Given the description of an element on the screen output the (x, y) to click on. 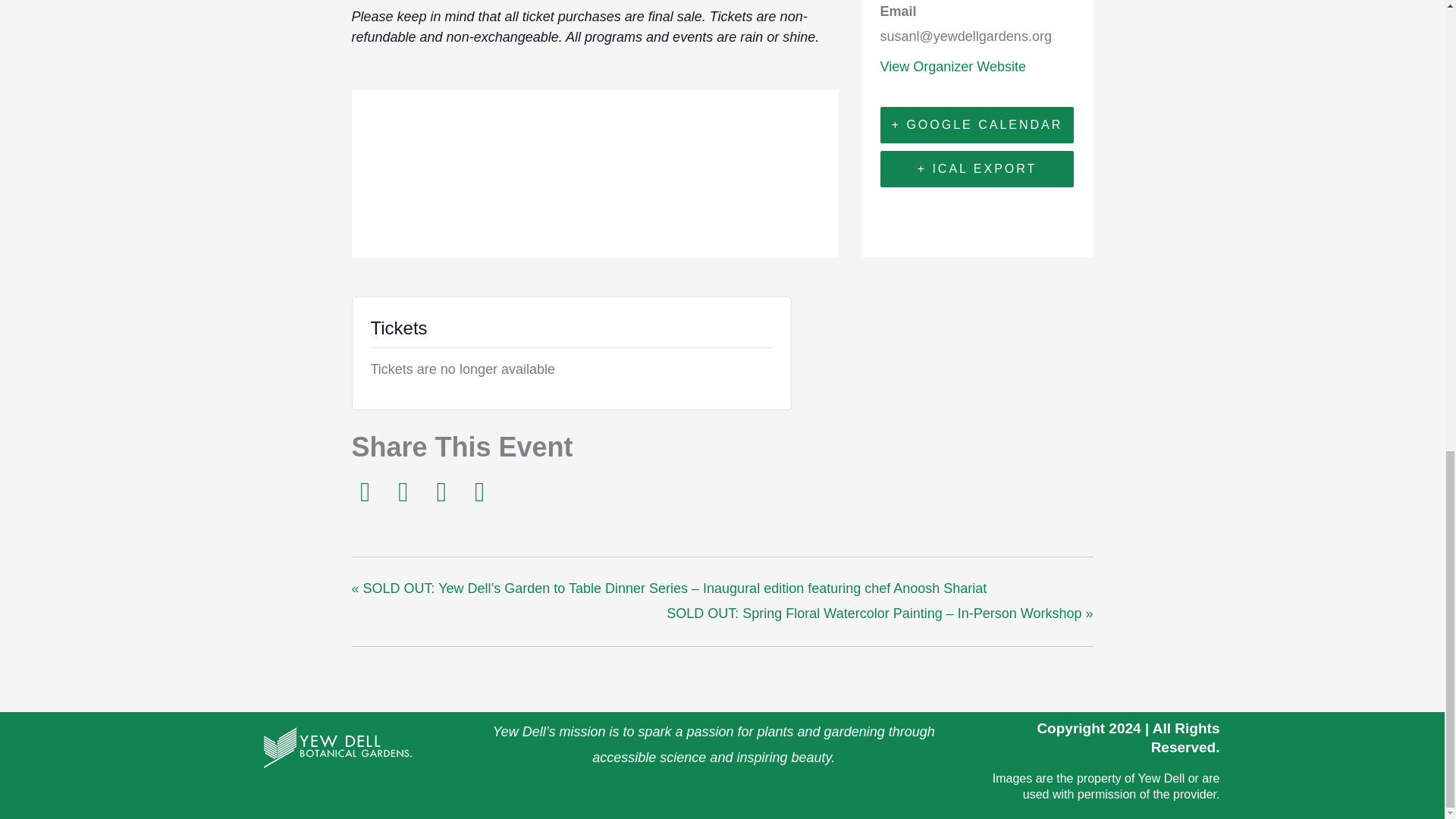
Add to Google Calendar (976, 125)
